Given the description of an element on the screen output the (x, y) to click on. 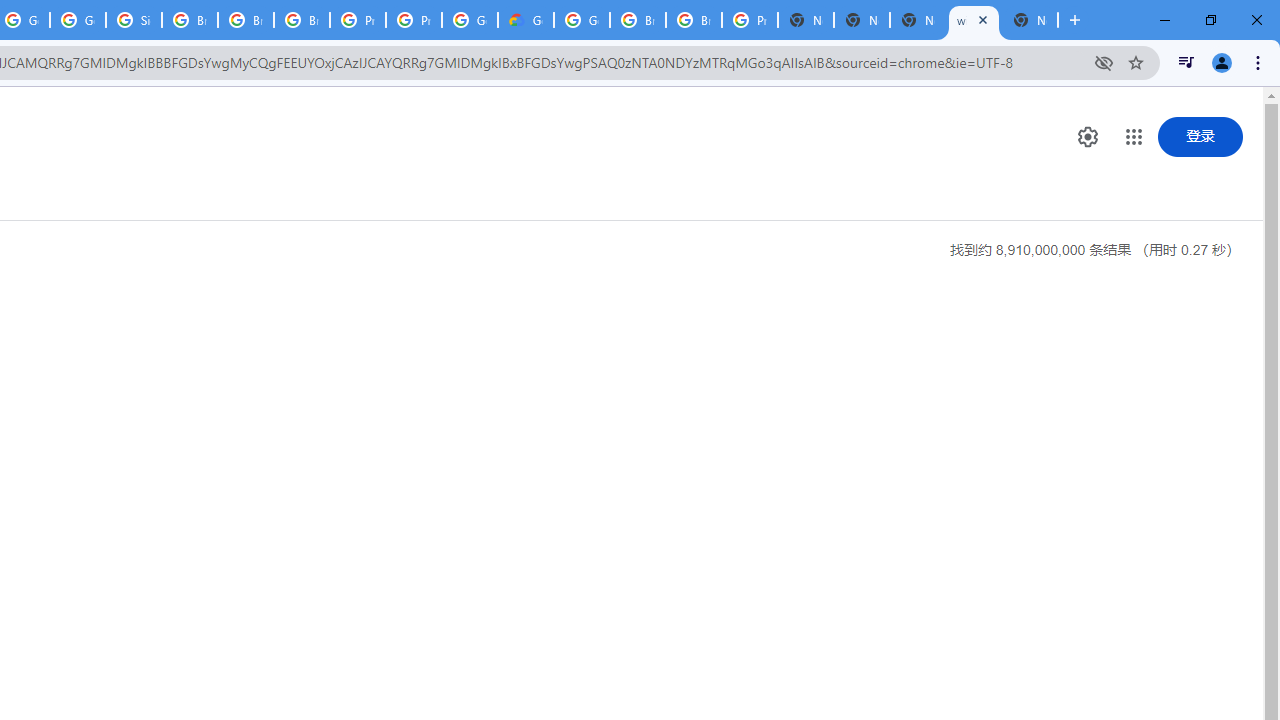
New Tab (806, 20)
Browse Chrome as a guest - Computer - Google Chrome Help (693, 20)
Browse Chrome as a guest - Computer - Google Chrome Help (637, 20)
Browse Chrome as a guest - Computer - Google Chrome Help (245, 20)
Sign in - Google Accounts (134, 20)
Google Cloud Estimate Summary (525, 20)
